Given the description of an element on the screen output the (x, y) to click on. 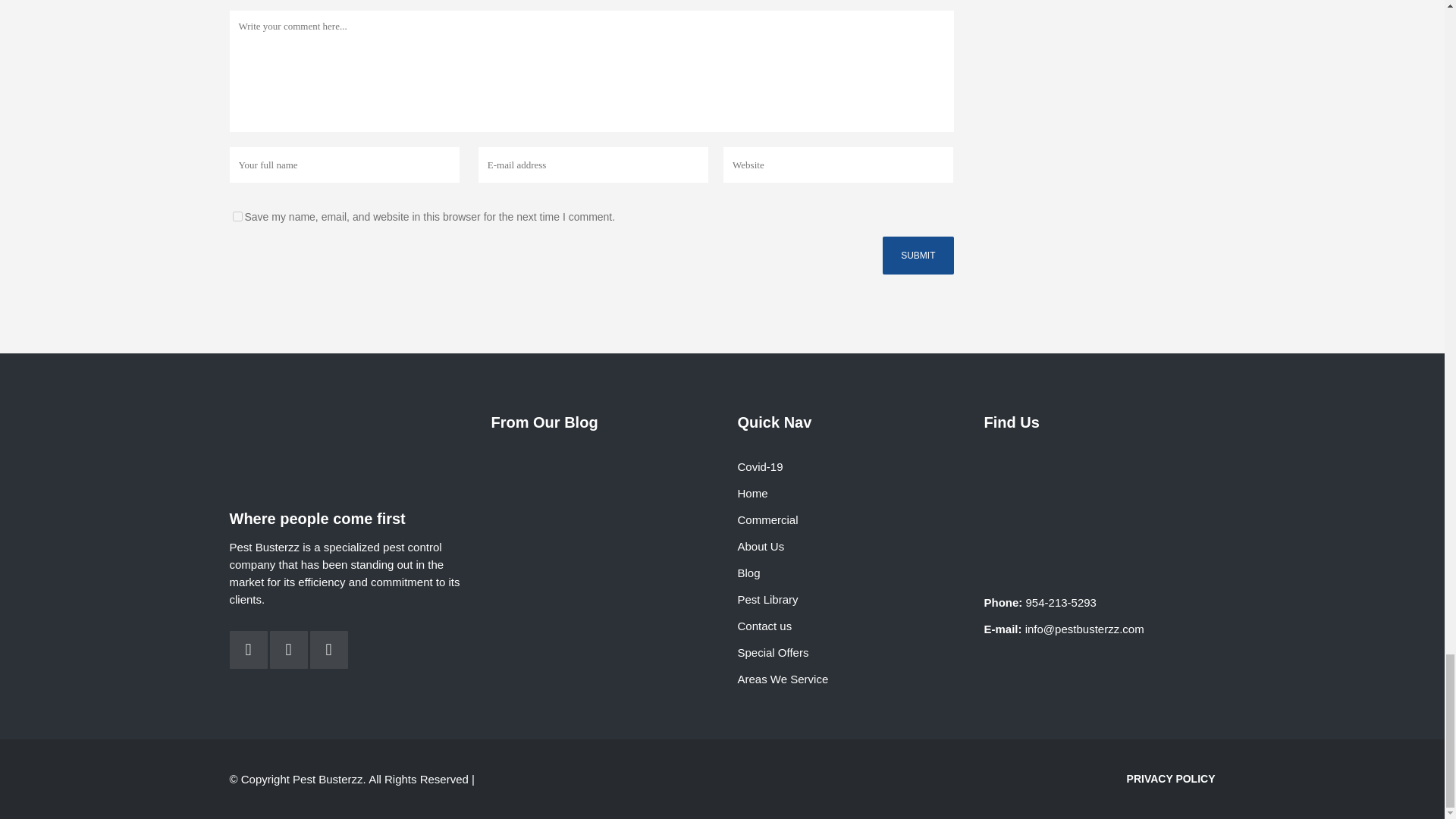
Submit (917, 255)
yes (236, 216)
Pest Busterzz (1099, 499)
